Given the description of an element on the screen output the (x, y) to click on. 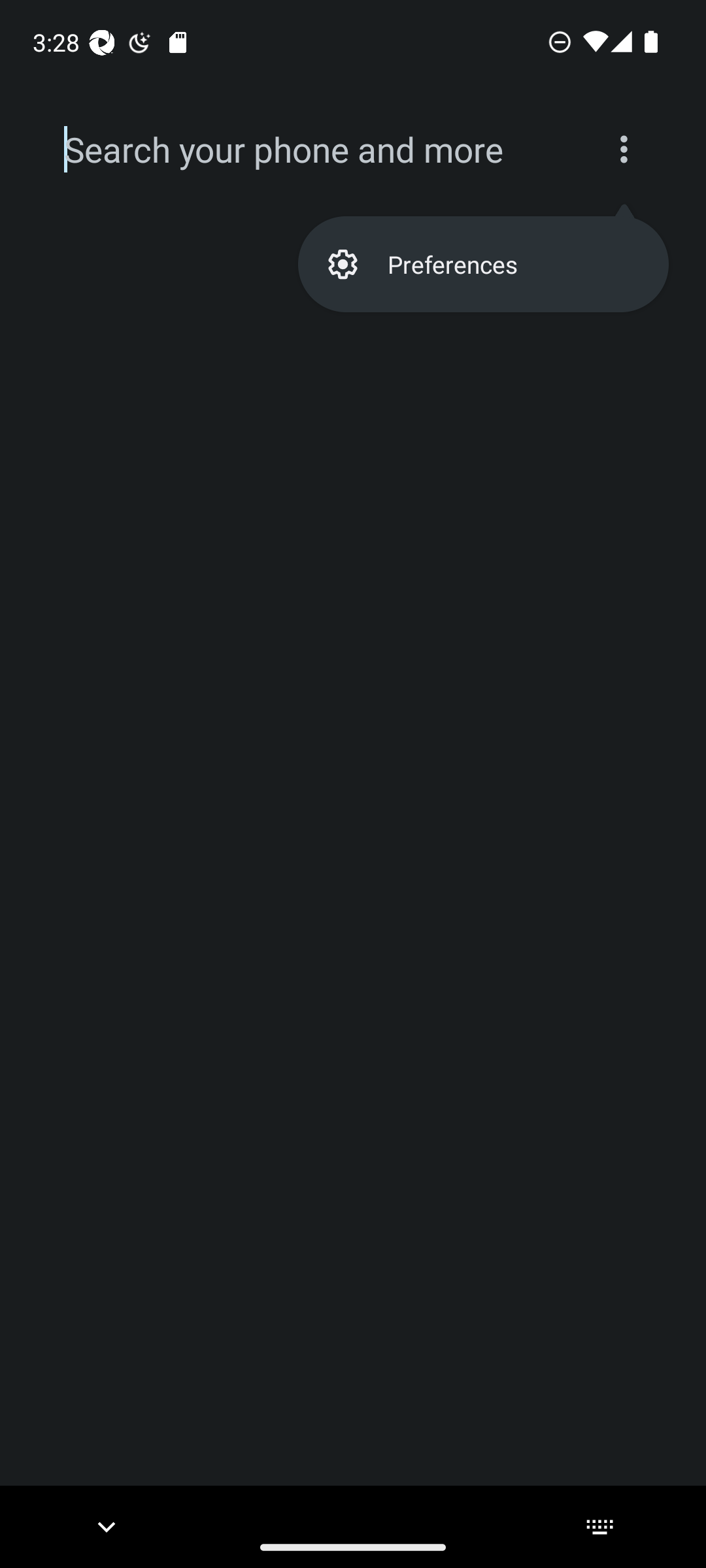
Preferences (482, 264)
